Given the description of an element on the screen output the (x, y) to click on. 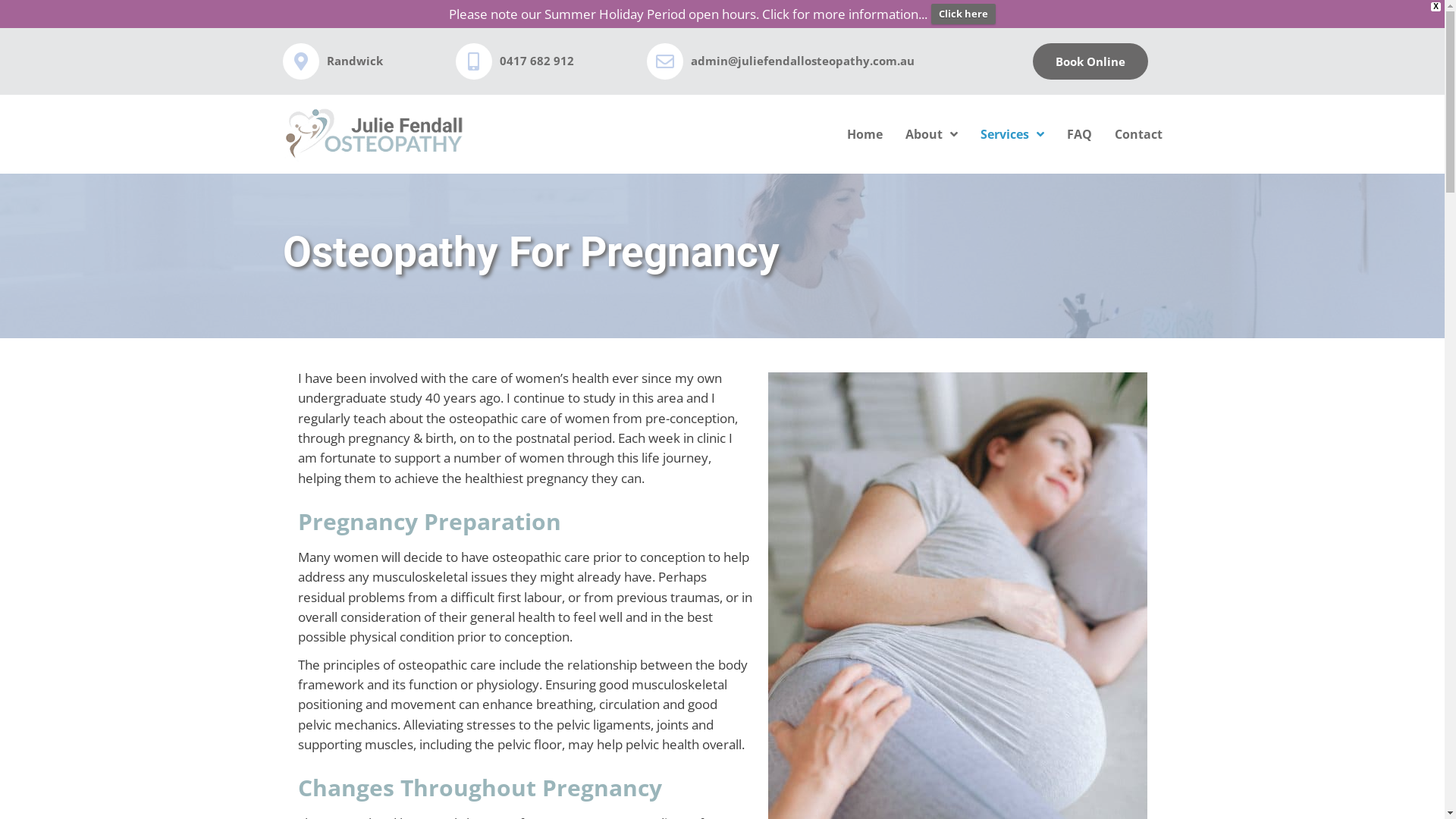
Services Element type: text (1011, 133)
0417 682 912 Element type: text (536, 60)
Contact Element type: text (1138, 133)
Home Element type: text (864, 133)
julie fendall osteopathy logo Element type: hover (372, 134)
FAQ Element type: text (1079, 133)
Book Online Element type: text (1090, 61)
About Element type: text (931, 133)
admin@juliefendallosteopathy.com.au Element type: text (802, 60)
Click here Element type: text (963, 13)
